Given the description of an element on the screen output the (x, y) to click on. 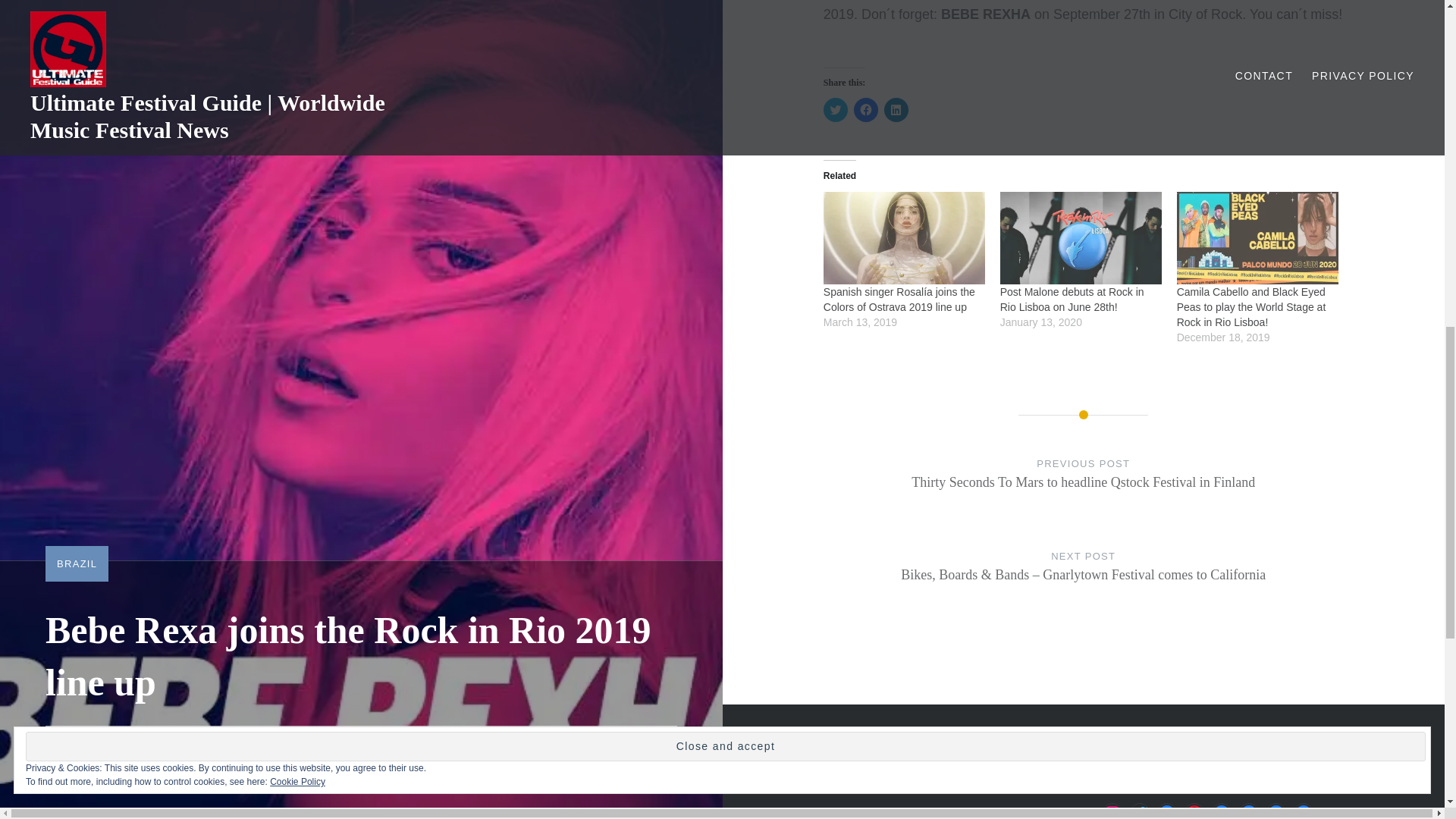
Facebook (1248, 811)
Facebook (1303, 811)
Click to share on Twitter (835, 109)
Click to share on LinkedIn (895, 109)
Twitter (1139, 811)
Click to share on Facebook (865, 109)
Facebook (1221, 811)
Post Malone debuts at Rock in Rio Lisboa on June 28th! (1080, 237)
